Given the description of an element on the screen output the (x, y) to click on. 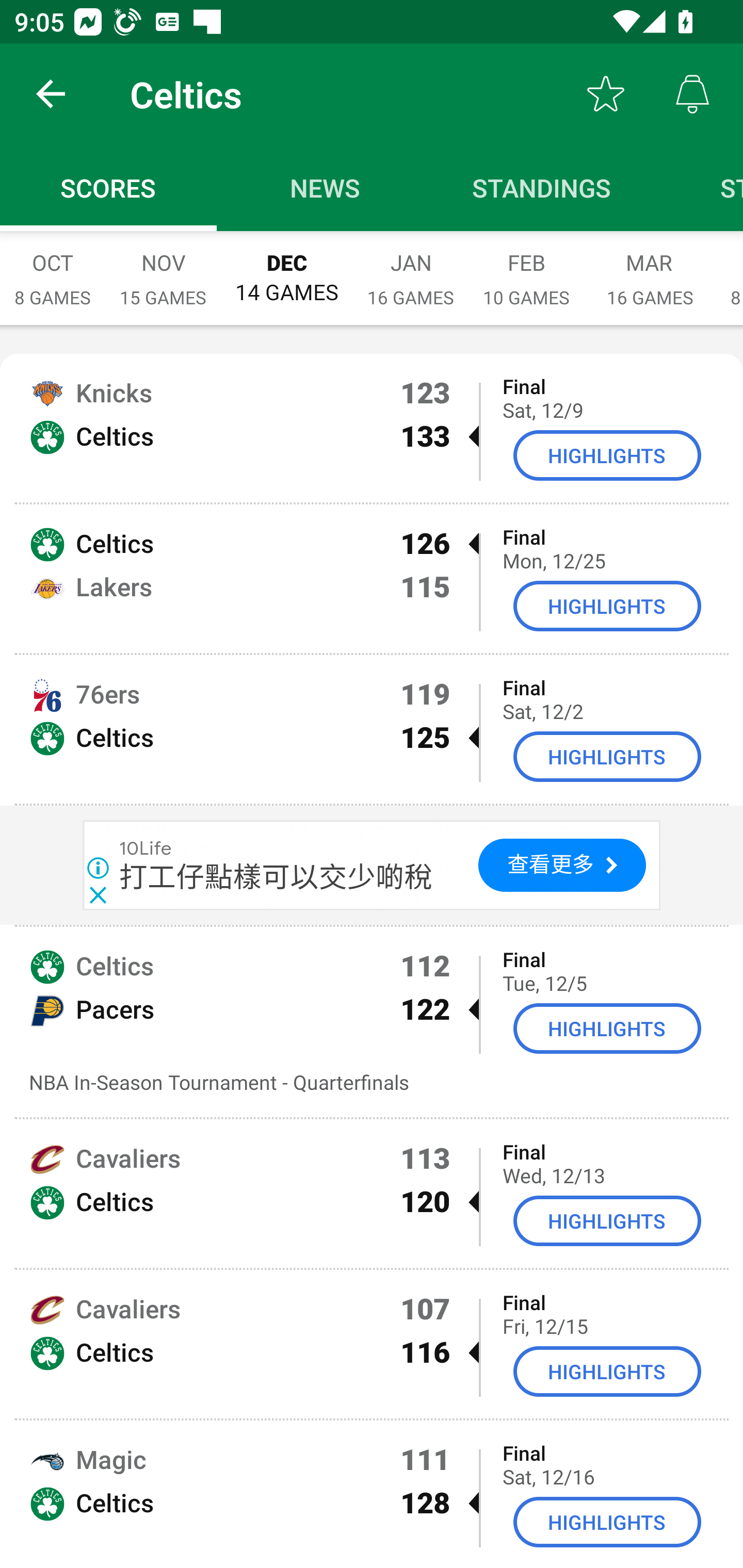
back.button (50, 93)
Favorite toggle (605, 93)
Alerts (692, 93)
News NEWS (324, 187)
Standings STANDINGS (541, 187)
OCT 8 GAMES (52, 268)
NOV 15 GAMES (162, 268)
DEC 14 GAMES (286, 268)
JAN 16 GAMES (410, 268)
FEB 10 GAMES (525, 268)
MAR 16 GAMES (649, 268)
HIGHLIGHTS (607, 455)
HIGHLIGHTS (607, 605)
76ers 119 Celtics 125  Final Sat, 12/2 HIGHLIGHTS (371, 728)
HIGHLIGHTS (607, 756)
10Life (145, 847)
查看更多 (561, 865)
打工仔點樣可以交少啲稅 (276, 876)
HIGHLIGHTS (607, 1028)
HIGHLIGHTS (607, 1220)
HIGHLIGHTS (607, 1371)
HIGHLIGHTS (607, 1522)
